Given the description of an element on the screen output the (x, y) to click on. 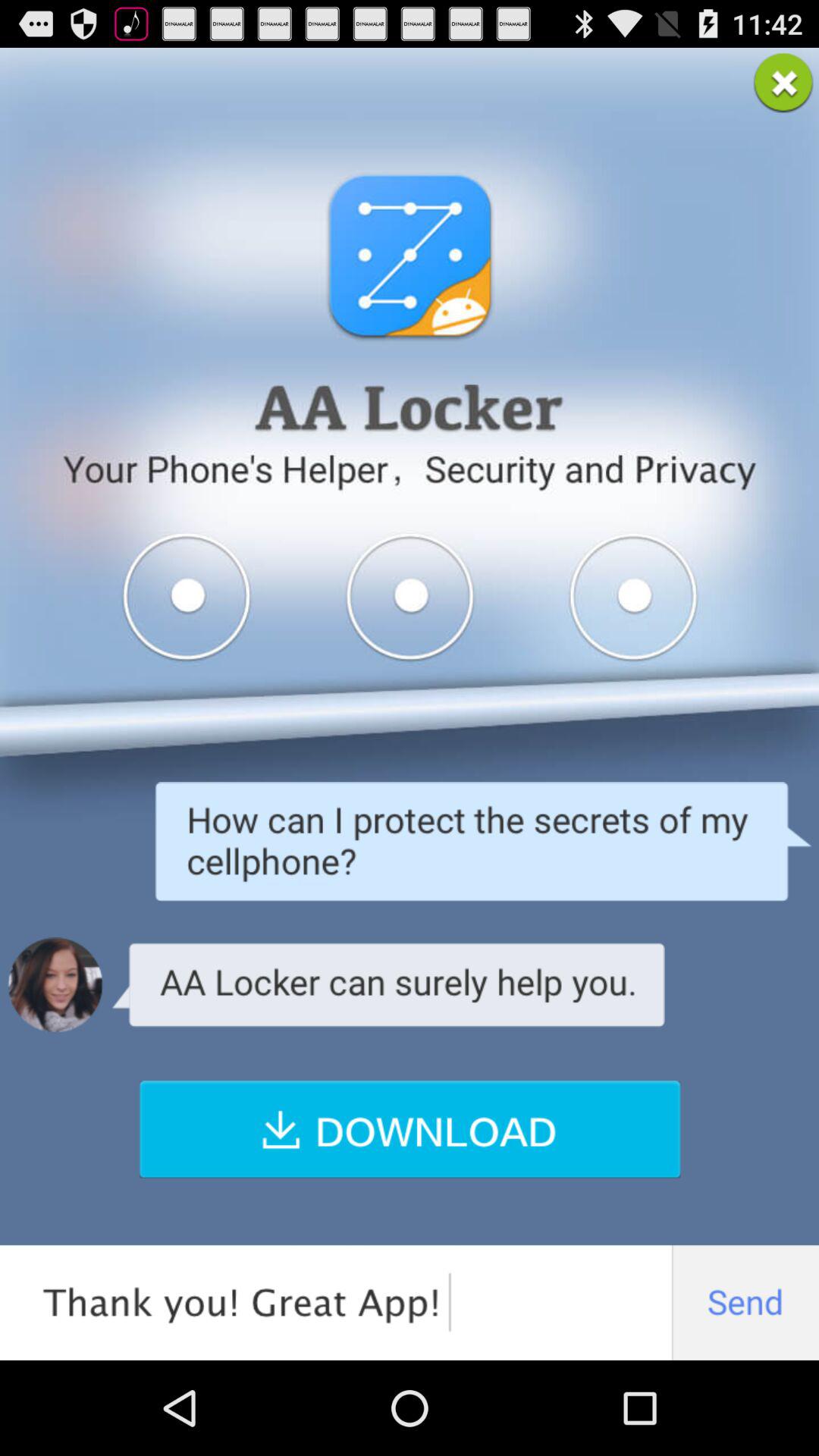
close screen (783, 83)
